Given the description of an element on the screen output the (x, y) to click on. 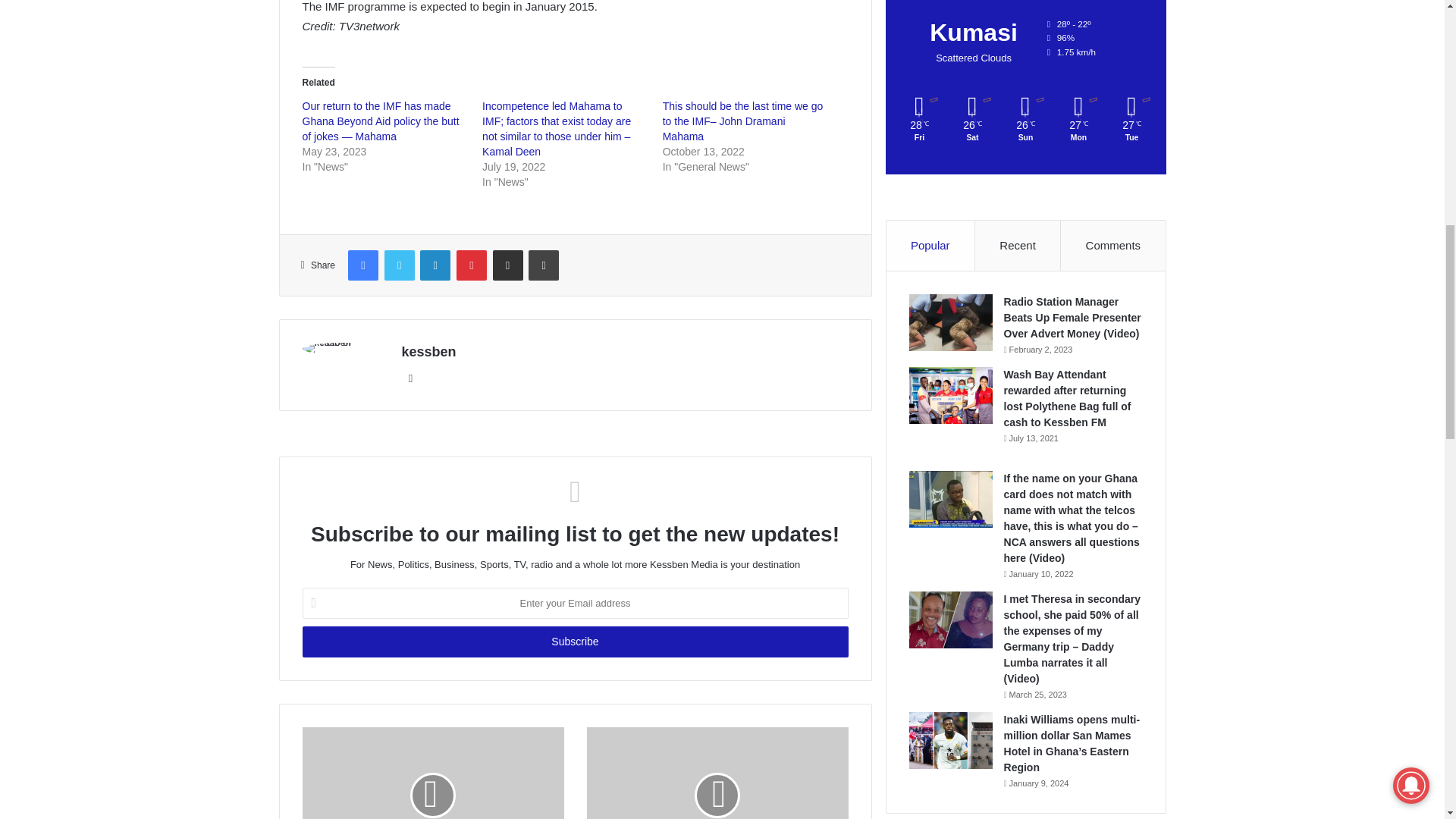
Subscribe (574, 641)
